Given the description of an element on the screen output the (x, y) to click on. 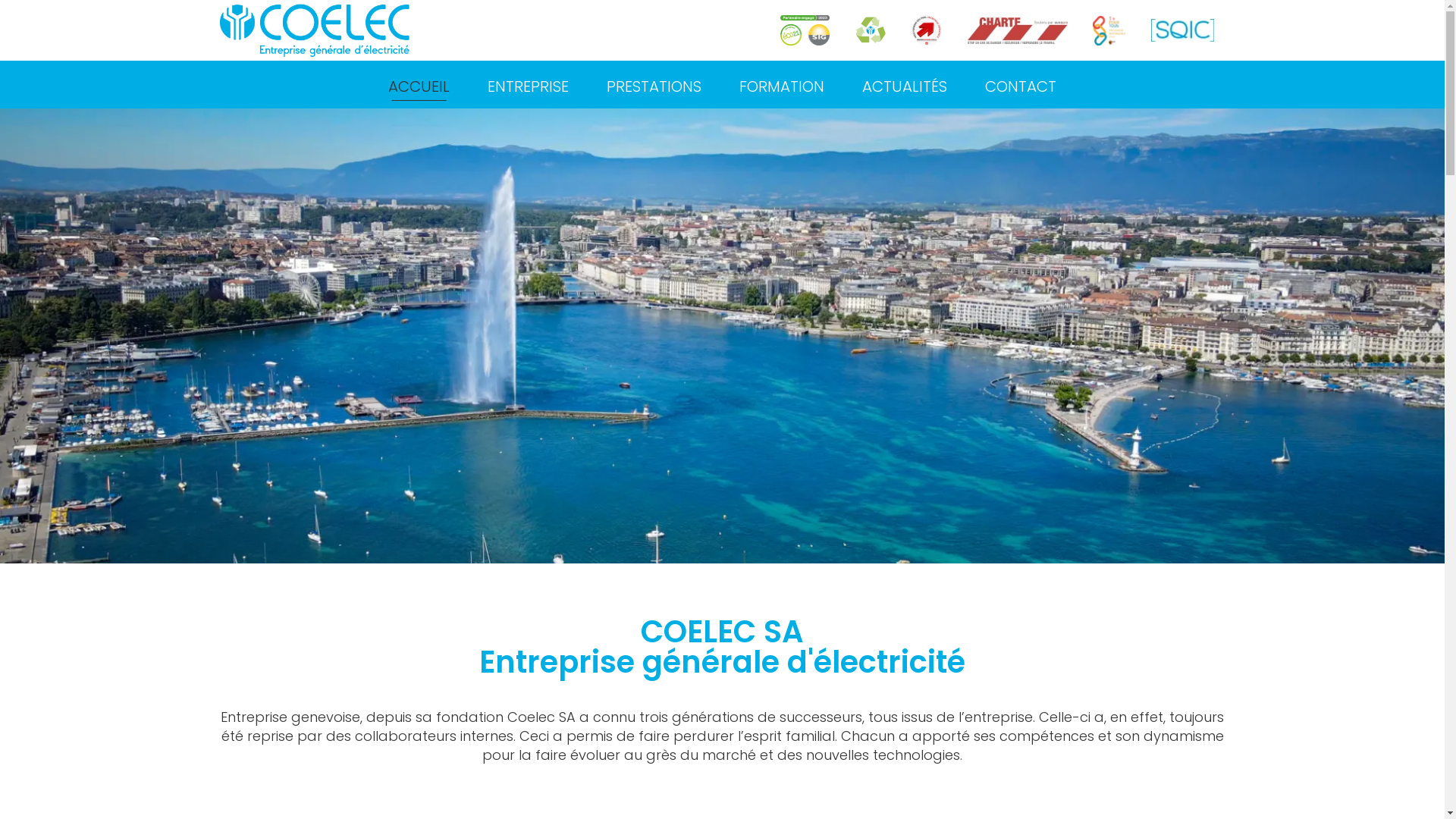
FORMATION Element type: text (781, 84)
logo_coelec_header Element type: hover (314, 29)
PRESTATIONS Element type: text (653, 84)
ACCUEIL Element type: text (418, 84)
CONTACT Element type: text (1020, 84)
ENTREPRISE Element type: text (527, 84)
